Given the description of an element on the screen output the (x, y) to click on. 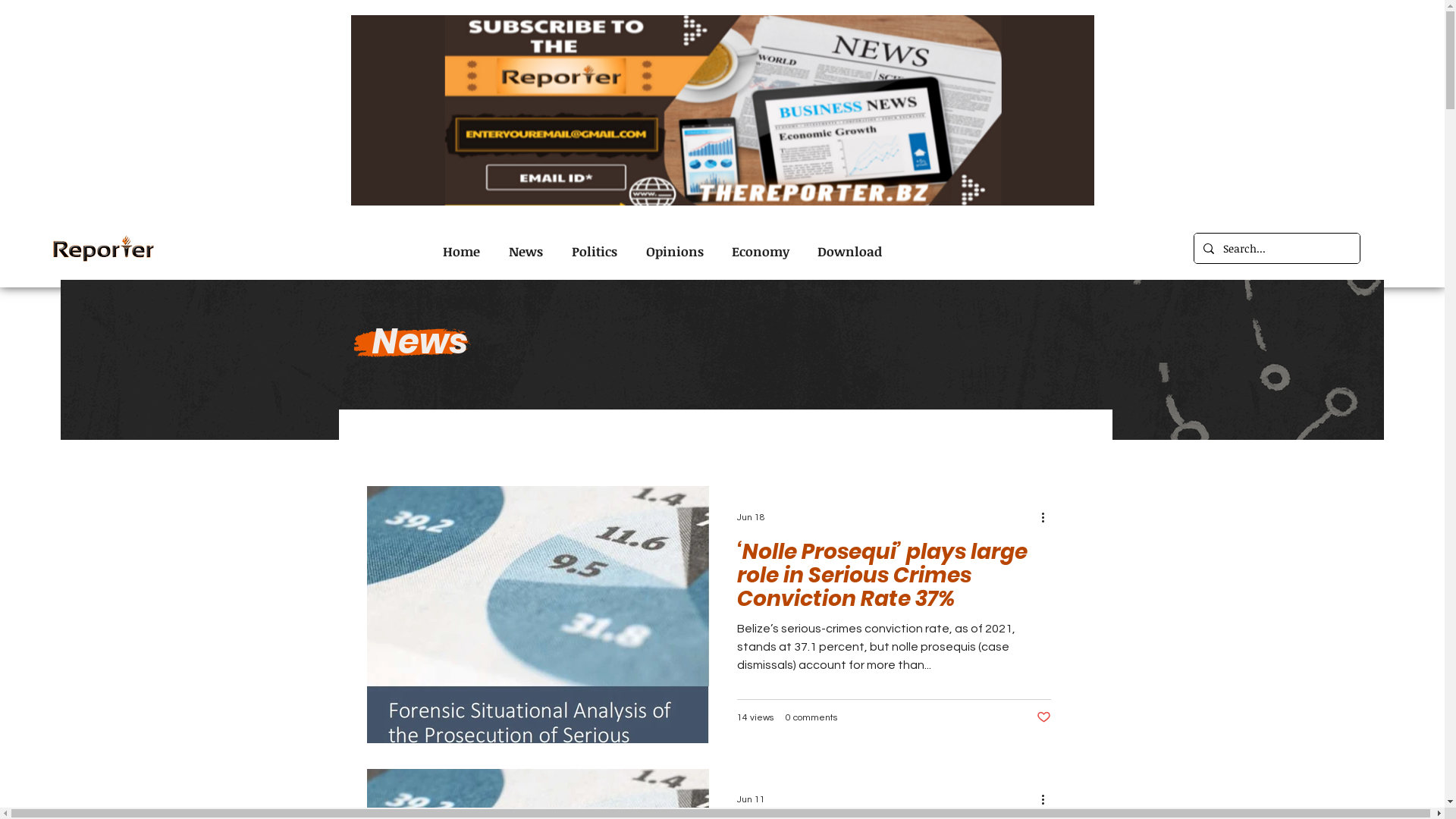
Post not marked as liked Element type: text (1042, 717)
Download Element type: text (846, 251)
Opinions Element type: text (671, 251)
News Element type: text (522, 251)
Home Element type: text (458, 251)
0 comments Element type: text (811, 717)
Economy Element type: text (757, 251)
Politics Element type: text (591, 251)
